Given the description of an element on the screen output the (x, y) to click on. 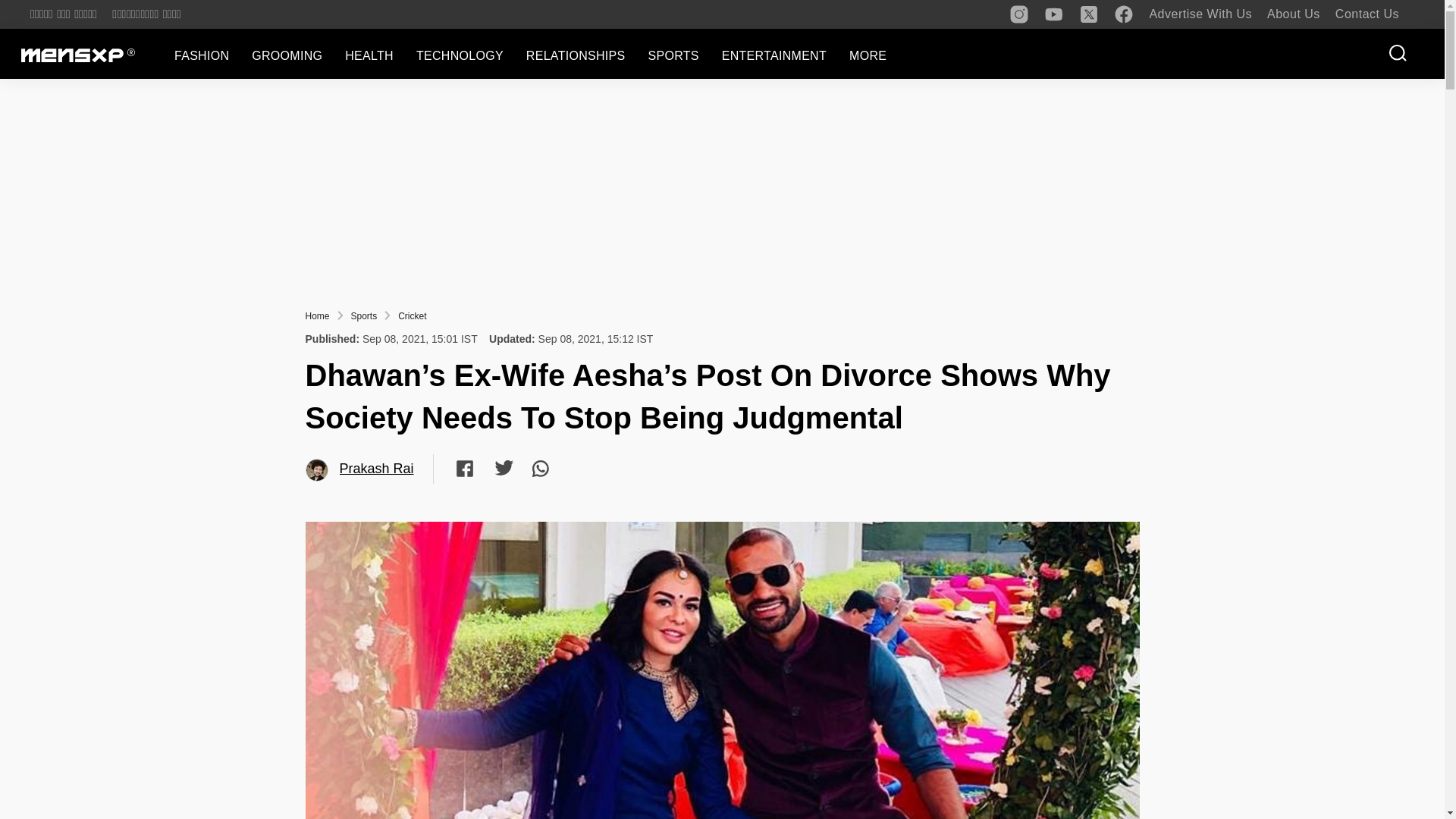
About Us (1293, 13)
Cricket (411, 316)
Home (316, 316)
Contact Us  (1367, 13)
Prakash Kumar Rai (317, 470)
About Us (1293, 13)
Sports (363, 316)
Contact Us (1367, 13)
Advertise With Us (1200, 13)
Advertise With Us (1200, 13)
